Given the description of an element on the screen output the (x, y) to click on. 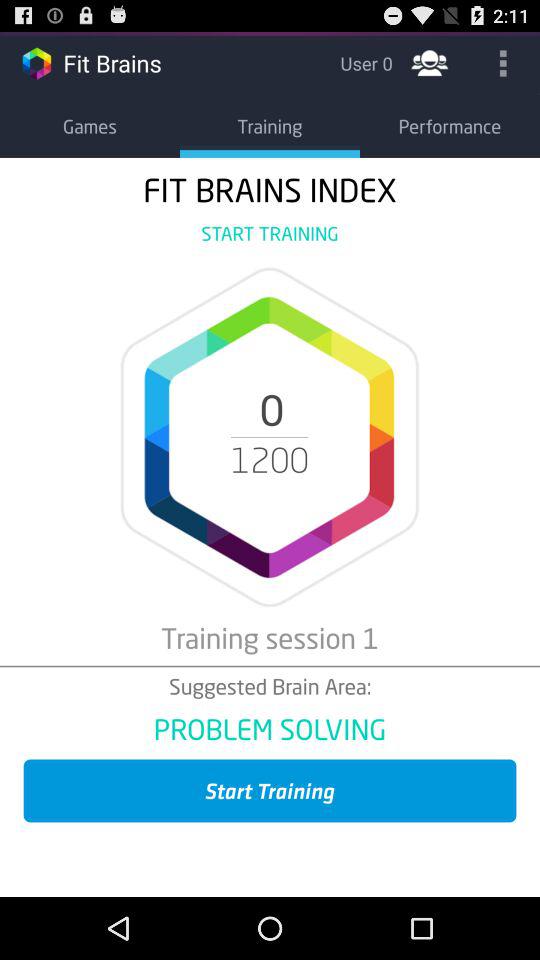
launch icon above the performance (429, 62)
